Given the description of an element on the screen output the (x, y) to click on. 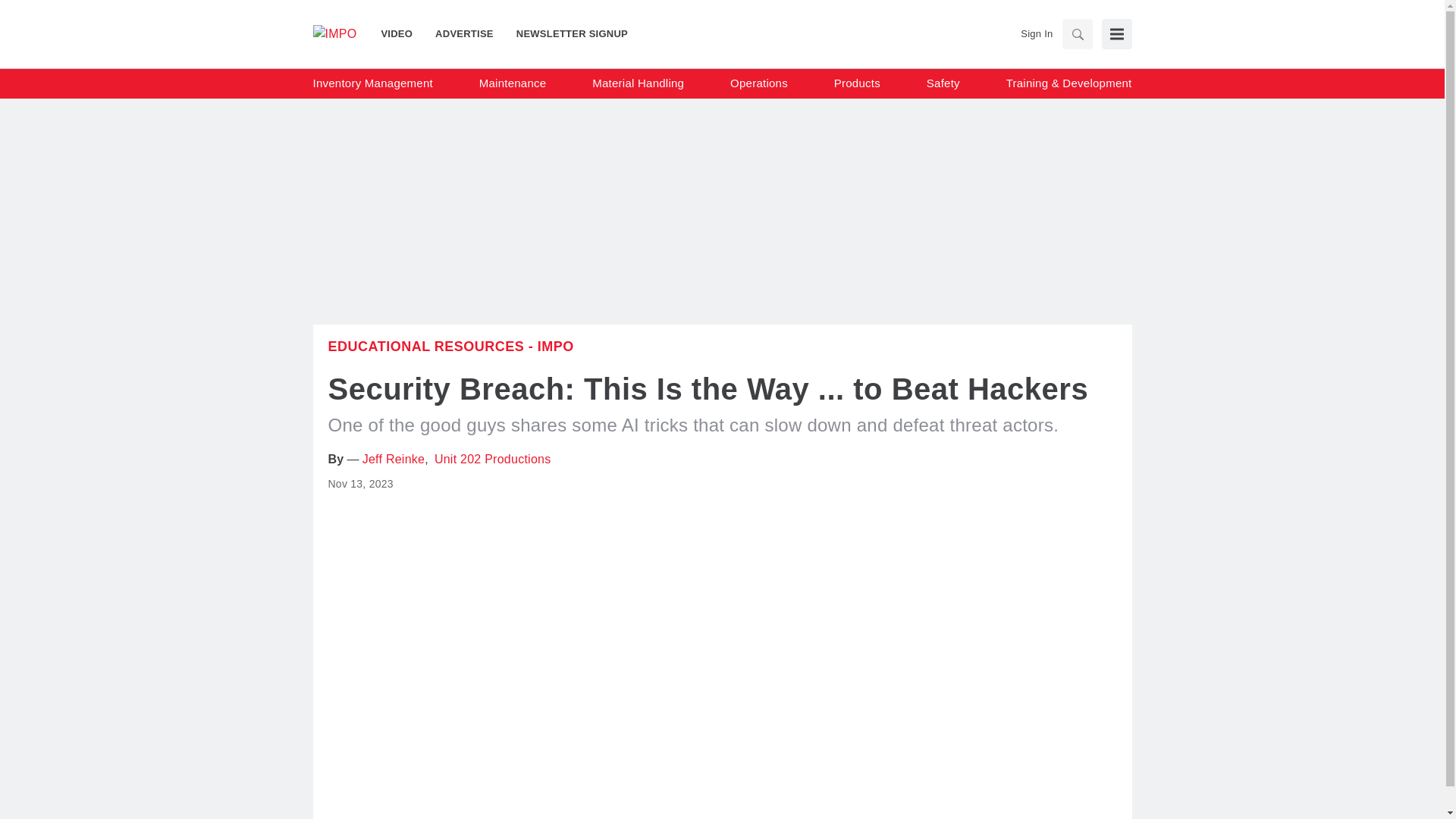
Inventory Management (372, 83)
ADVERTISE (464, 33)
Operations (758, 83)
Products (857, 83)
NEWSLETTER SIGNUP (566, 33)
Material Handling (638, 83)
Sign In (1036, 33)
Safety (942, 83)
Maintenance (513, 83)
VIDEO (401, 33)
